Given the description of an element on the screen output the (x, y) to click on. 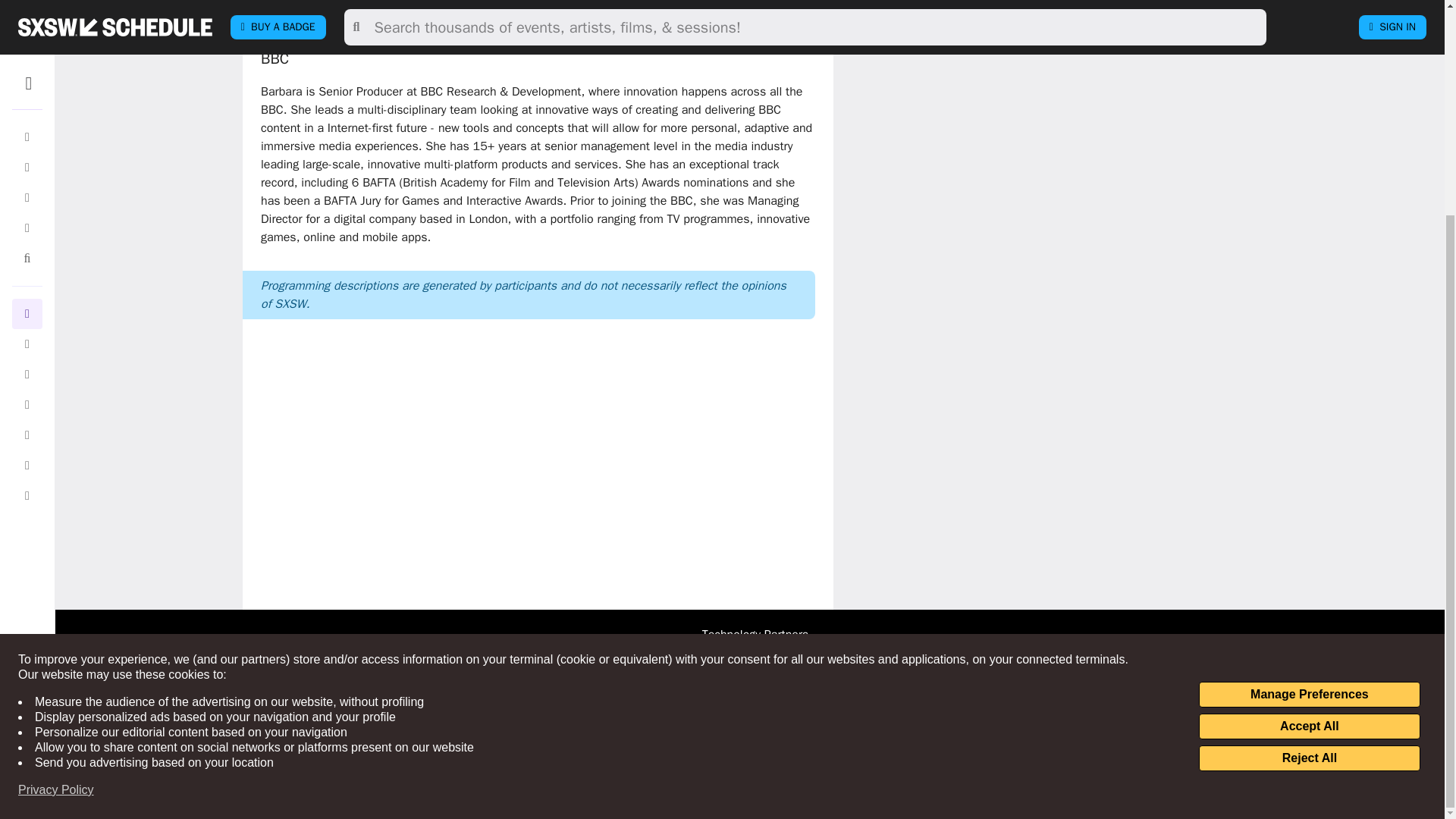
Manage Preferences (1309, 412)
Accept All (1309, 444)
Privacy Policy (55, 507)
Reject All (1309, 475)
